Given the description of an element on the screen output the (x, y) to click on. 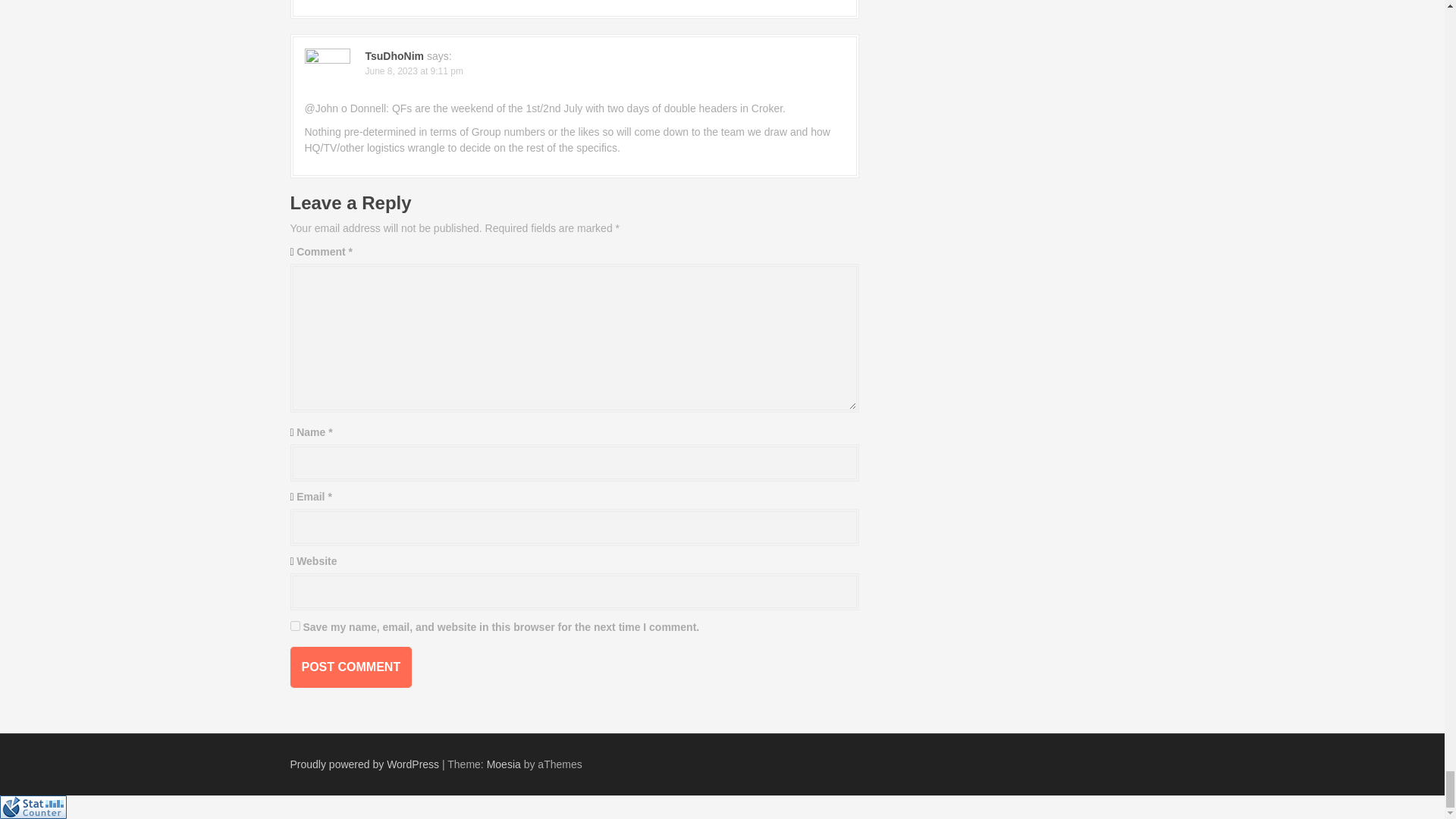
yes (294, 625)
Post Comment (350, 667)
